Given the description of an element on the screen output the (x, y) to click on. 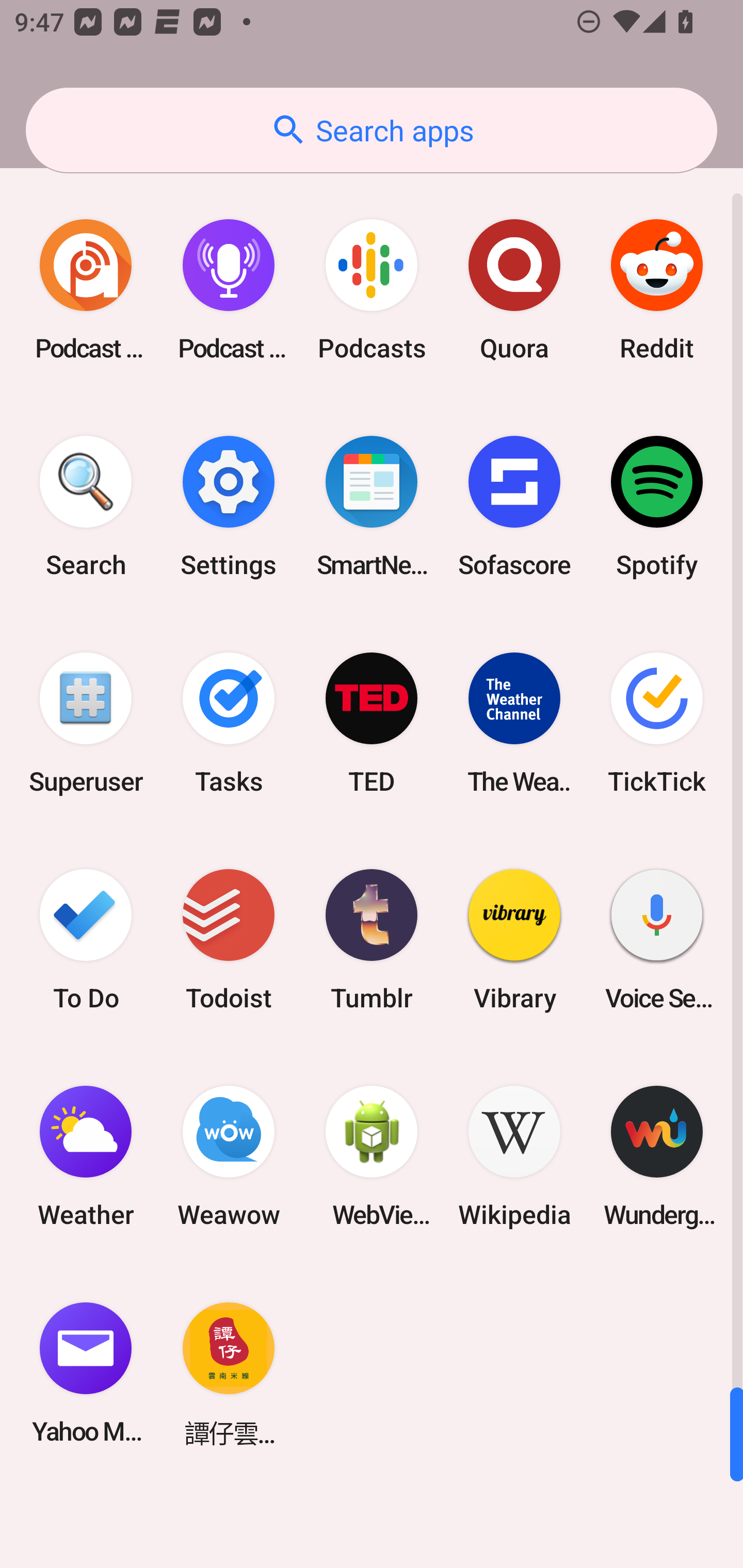
  Search apps (371, 130)
Podcast Addict (85, 289)
Podcast Player (228, 289)
Podcasts (371, 289)
Quora (514, 289)
Reddit (656, 289)
Search (85, 506)
Settings (228, 506)
SmartNews (371, 506)
Sofascore (514, 506)
Spotify (656, 506)
Superuser (85, 722)
Tasks (228, 722)
TED (371, 722)
The Weather Channel (514, 722)
TickTick (656, 722)
To Do (85, 939)
Todoist (228, 939)
Tumblr (371, 939)
Vibrary (514, 939)
Voice Search (656, 939)
Weather (85, 1156)
Weawow (228, 1156)
WebView Browser Tester (371, 1156)
Wikipedia (514, 1156)
Wunderground (656, 1156)
Yahoo Mail (85, 1373)
譚仔雲南米線 (228, 1373)
